Given the description of an element on the screen output the (x, y) to click on. 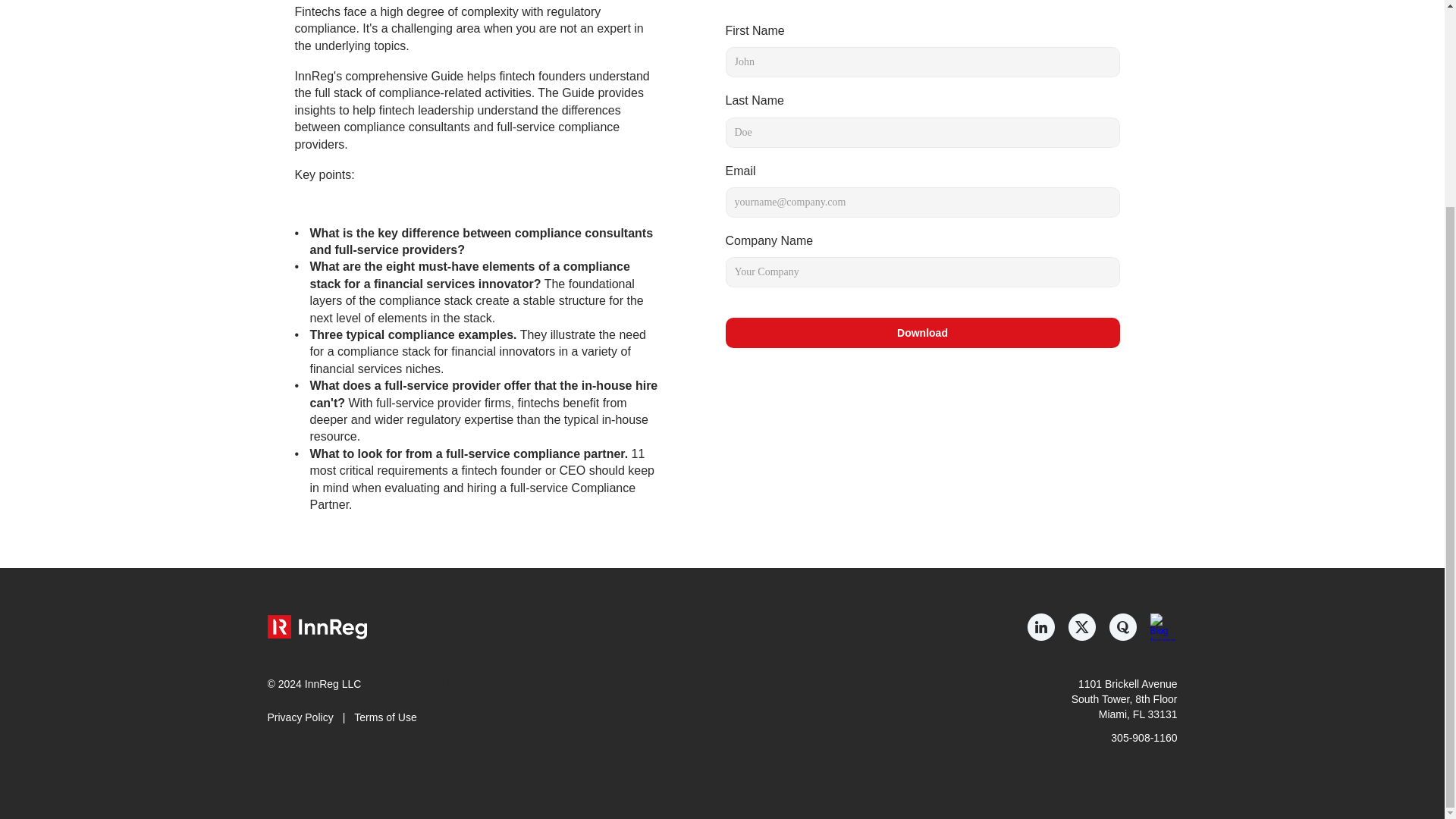
Cookie Settings (411, 684)
Download (922, 332)
Privacy Policy (299, 717)
Terms of Use (384, 717)
305-908-1160 (1143, 737)
